Given the description of an element on the screen output the (x, y) to click on. 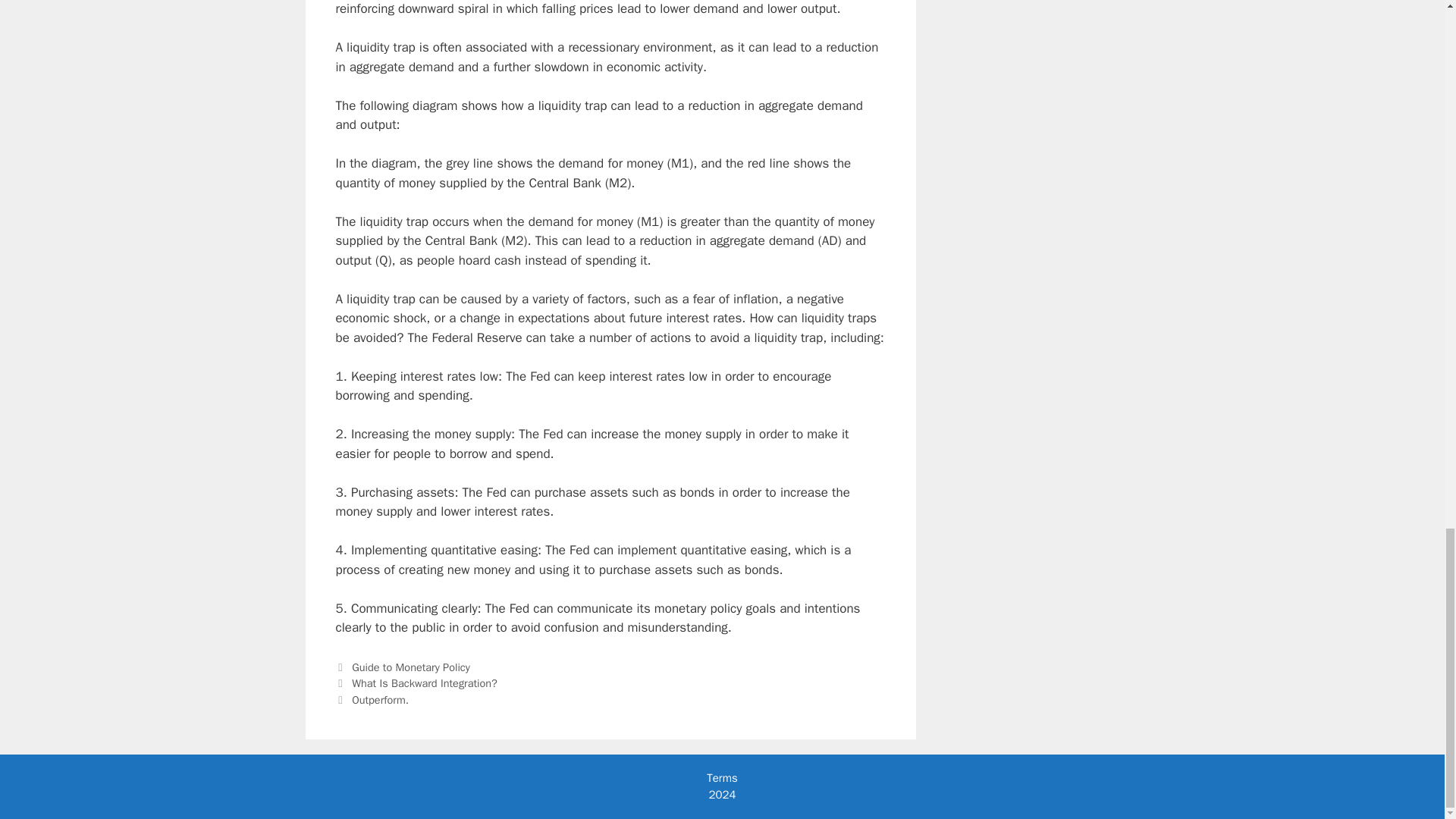
Guide to Monetary Policy (411, 667)
What Is Backward Integration? (424, 683)
Terms (721, 777)
Outperform. (380, 699)
